Given the description of an element on the screen output the (x, y) to click on. 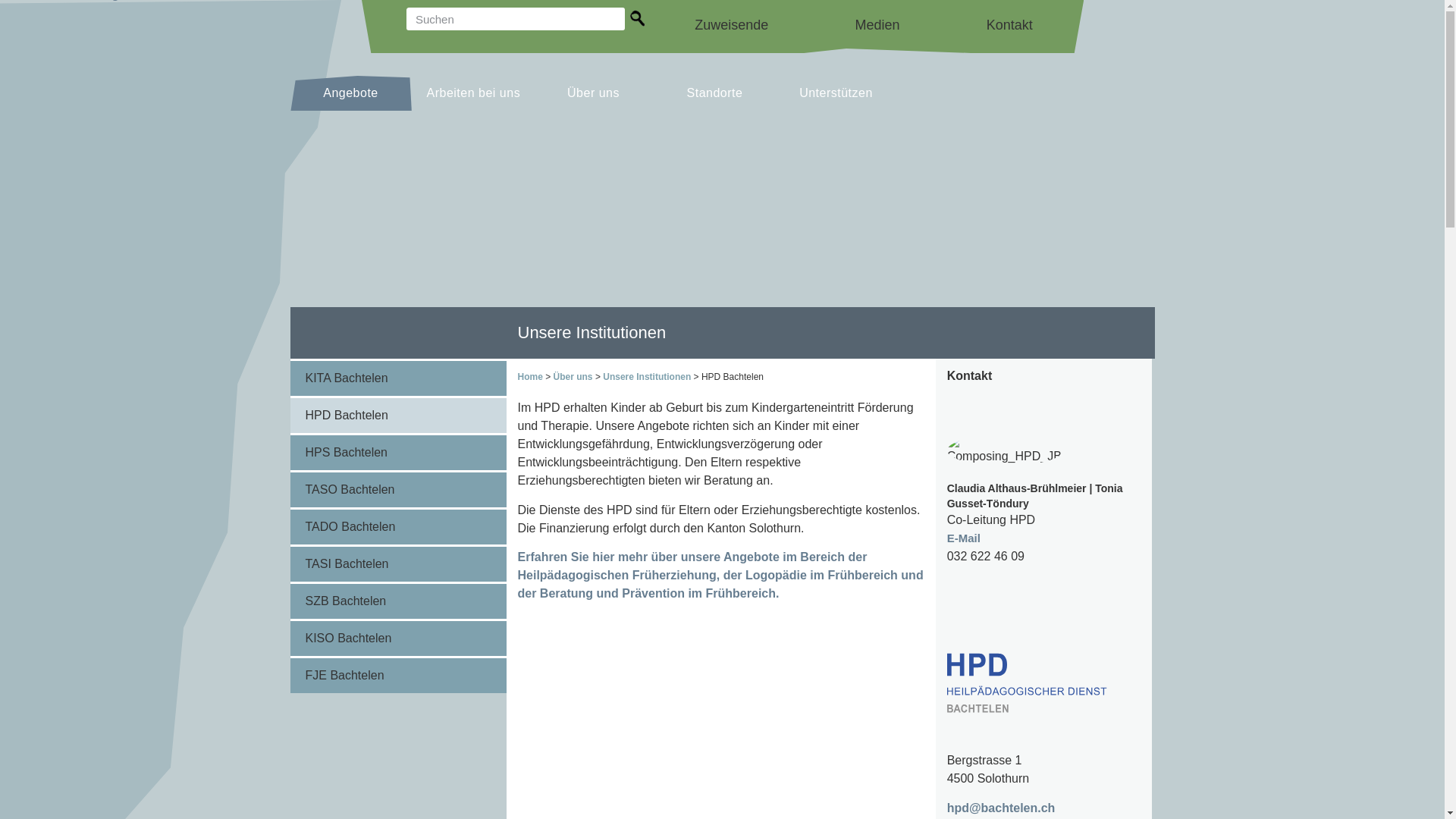
HPS Bachtelen Element type: text (397, 452)
Home Element type: text (529, 376)
hpd@bachtelen.ch Element type: text (1001, 807)
SZB Bachtelen Element type: text (397, 600)
TASO Bachtelen Element type: text (397, 489)
Medien Element type: text (876, 24)
TASI Bachtelen Element type: text (397, 563)
Composing_HPD_JB_01 Element type: hover (1005, 450)
Standorte Element type: text (714, 92)
TADO Bachtelen Element type: text (397, 526)
Angebote Element type: text (350, 92)
FJE Bachtelen Element type: text (397, 675)
Zuweisende Element type: text (731, 24)
Kontakt Element type: text (1009, 24)
HPD Bachtelen Element type: text (397, 415)
E-Mail Element type: text (963, 537)
KITA Bachtelen Element type: text (397, 377)
Arbeiten bei uns Element type: text (473, 92)
KISO Bachtelen Element type: text (397, 638)
Unsere Institutionen Element type: text (646, 376)
